Given the description of an element on the screen output the (x, y) to click on. 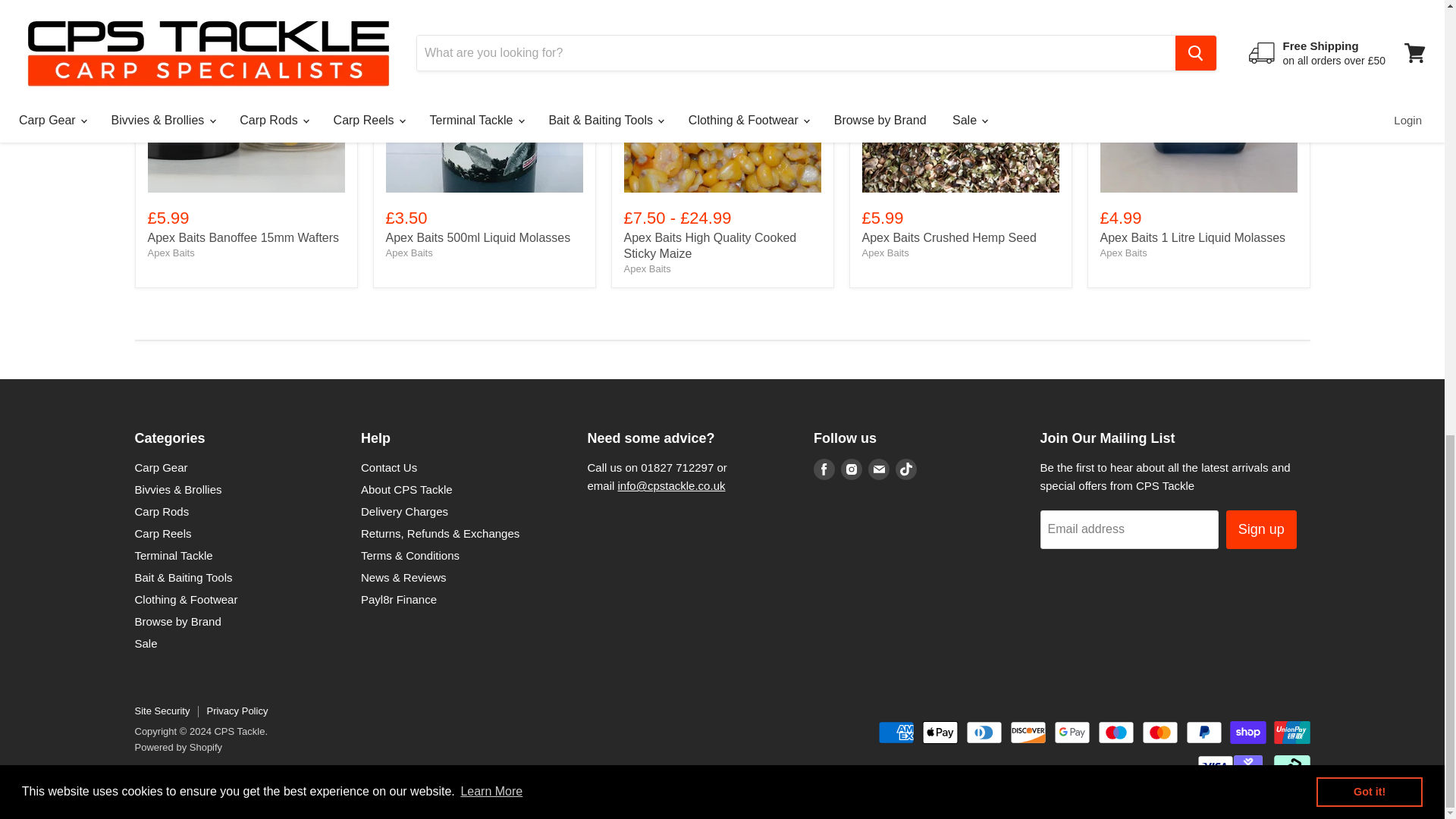
Apex Baits (884, 252)
Facebook (823, 468)
Email (878, 468)
TikTok (906, 468)
Apex Baits (170, 252)
Apex Baits (1123, 252)
Apex Baits (408, 252)
Apex Baits (646, 268)
Instagram (851, 468)
